Given the description of an element on the screen output the (x, y) to click on. 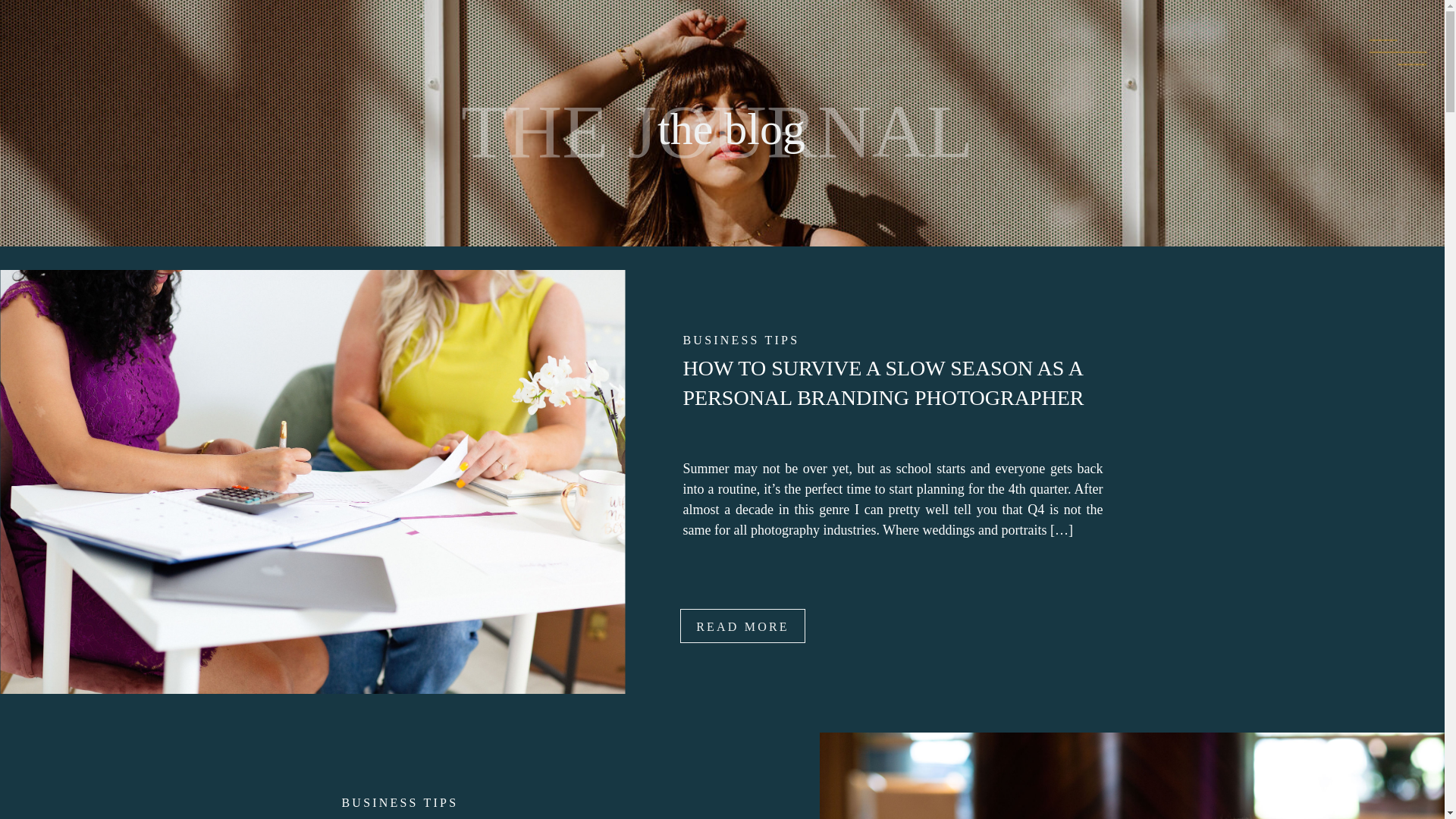
BUSINESS TIPS (399, 802)
READ MORE (742, 625)
BUSINESS TIPS (740, 339)
